Given the description of an element on the screen output the (x, y) to click on. 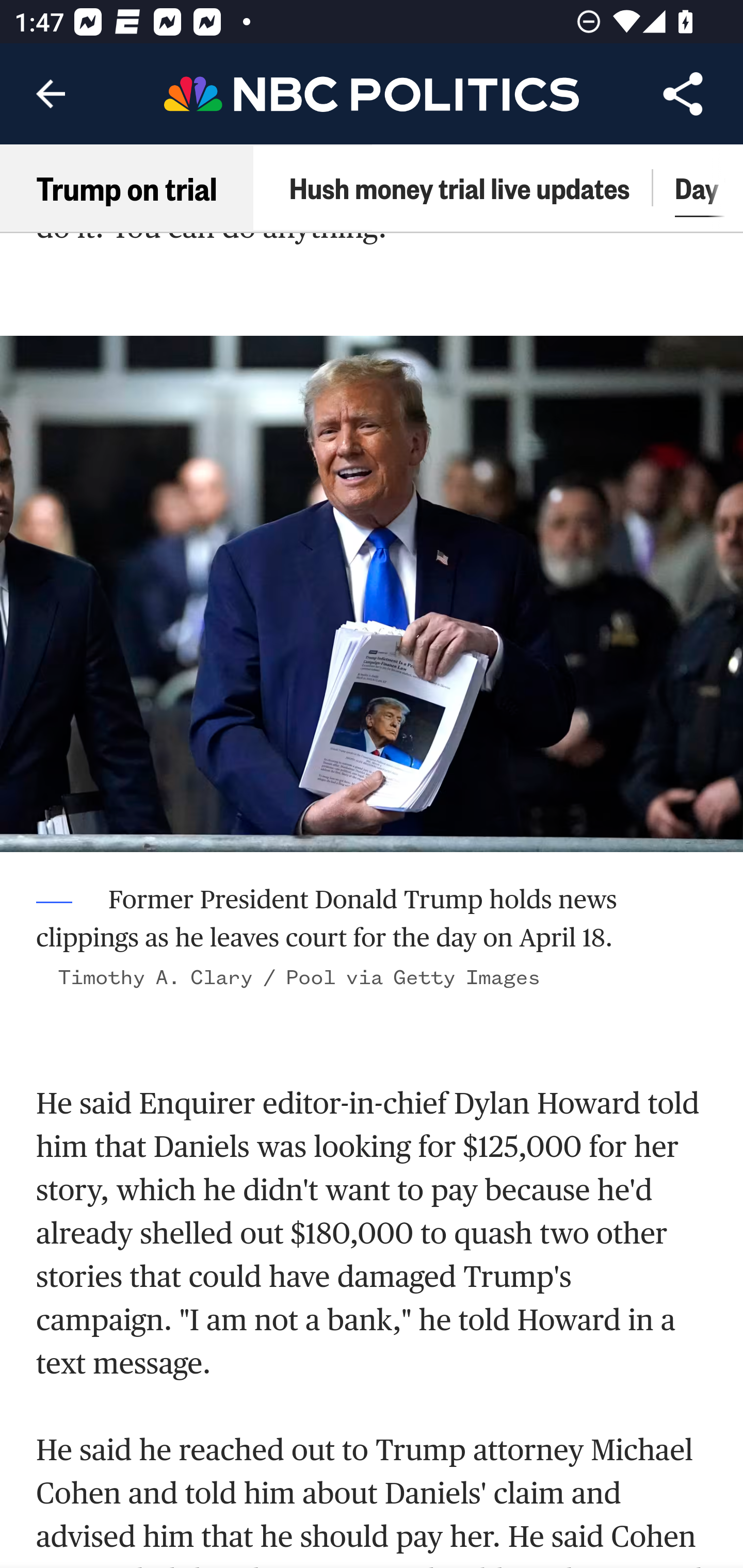
Navigate up (50, 93)
Share Article, button (683, 94)
Header, NBC Politics (371, 93)
Trump on trial (127, 187)
Hush money trial live updates (459, 187)
